Given the description of an element on the screen output the (x, y) to click on. 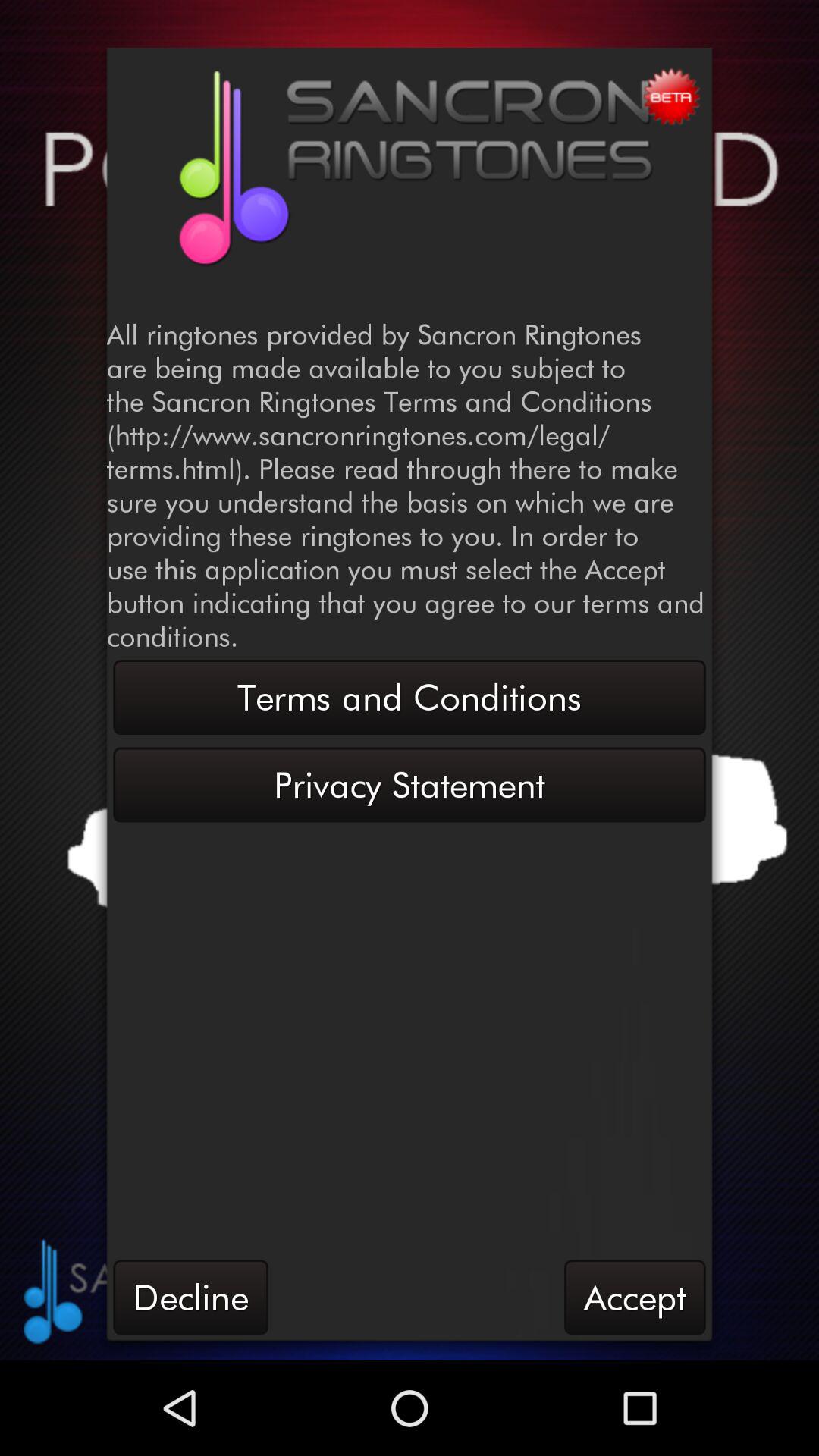
press the icon next to the decline item (634, 1296)
